Given the description of an element on the screen output the (x, y) to click on. 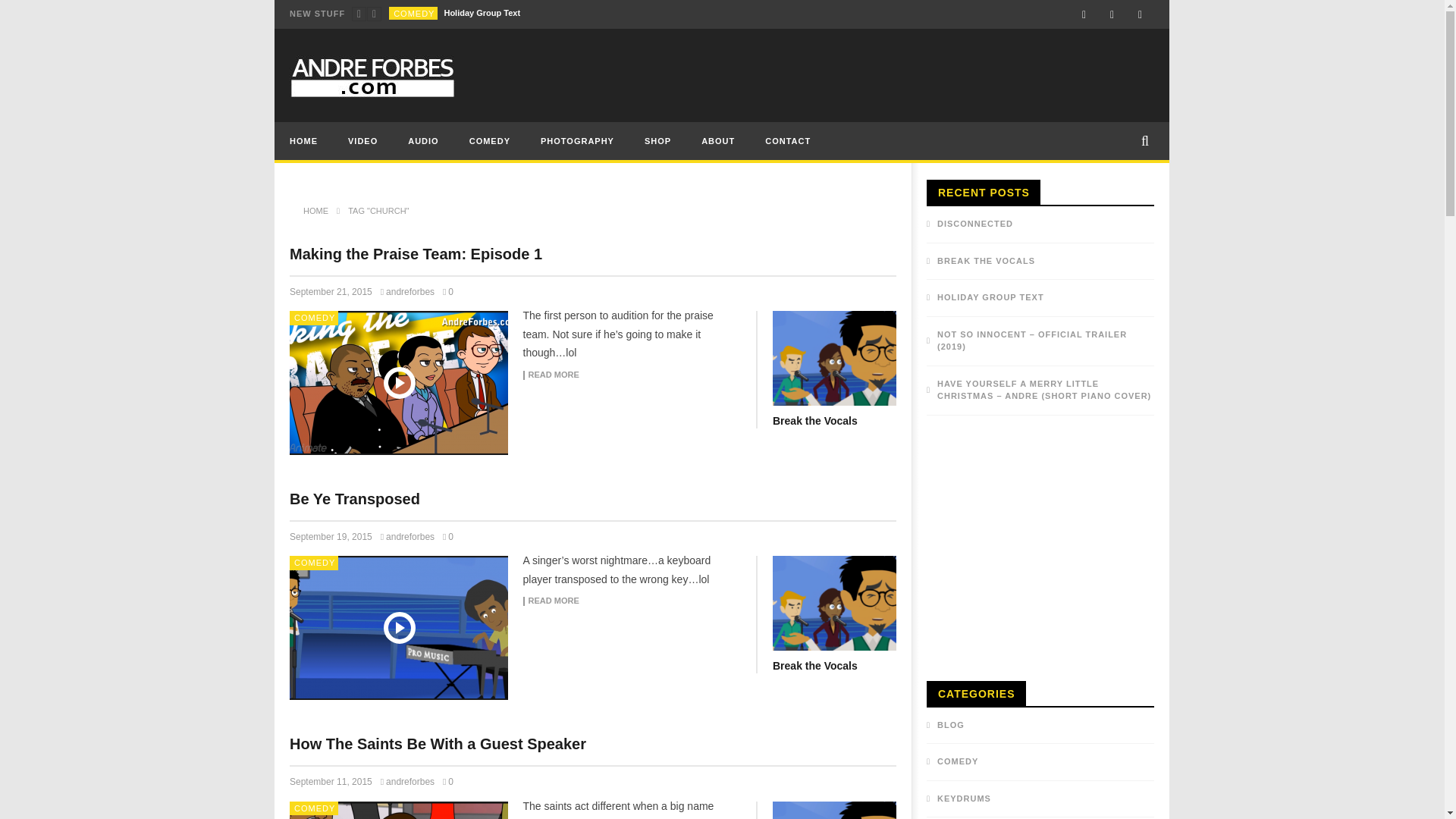
PHOTOGRAPHY (576, 140)
Holiday Group Text (481, 12)
HOME (304, 140)
VIDEO (363, 140)
SHOP (656, 140)
COMEDY (413, 13)
View all posts in Comedy (413, 13)
CONTACT (787, 140)
AUDIO (422, 140)
COMEDY (489, 140)
Holiday Group Text (481, 12)
ABOUT (717, 140)
Facebook (1083, 14)
